Given the description of an element on the screen output the (x, y) to click on. 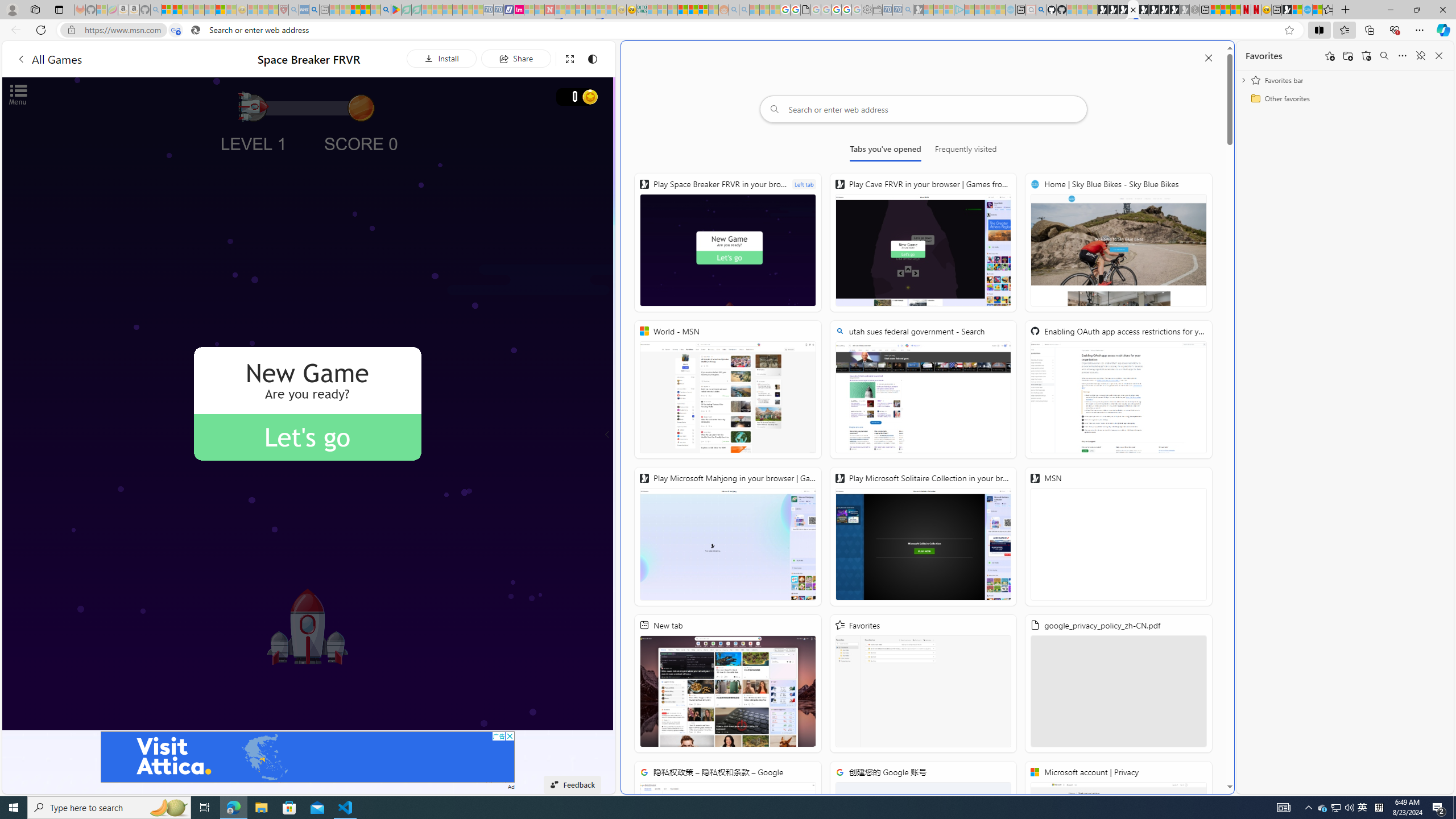
Bluey: Let's Play! - Apps on Google Play (395, 9)
Latest Politics News & Archive | Newsweek.com - Sleeping (549, 9)
Frequently visited (965, 151)
github - Search (1040, 9)
